Given the description of an element on the screen output the (x, y) to click on. 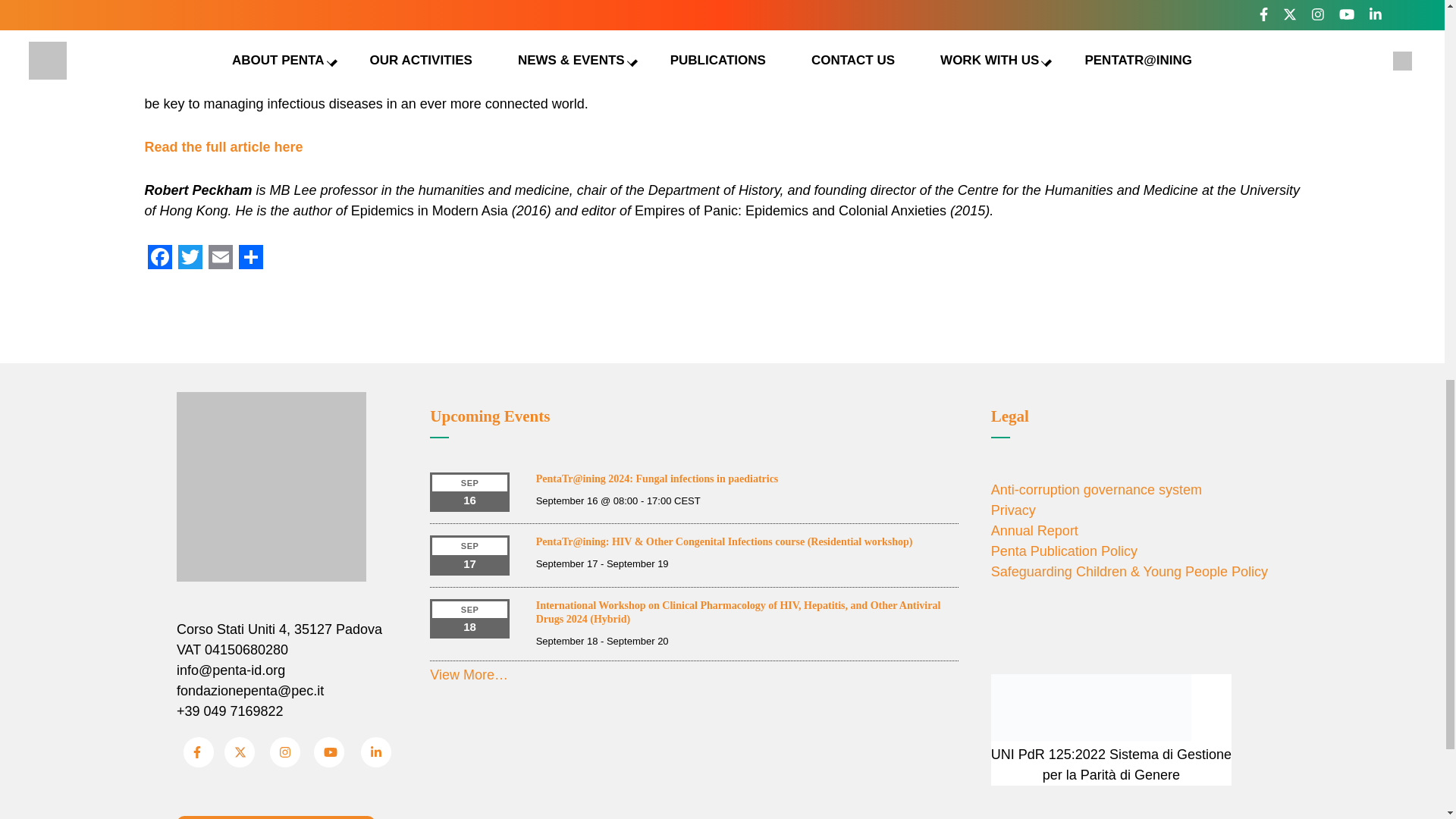
Twitter (189, 256)
Facebook (159, 256)
Twitter (189, 256)
Email (219, 256)
Email (219, 256)
Facebook (159, 256)
Read the full article here (223, 146)
